Given the description of an element on the screen output the (x, y) to click on. 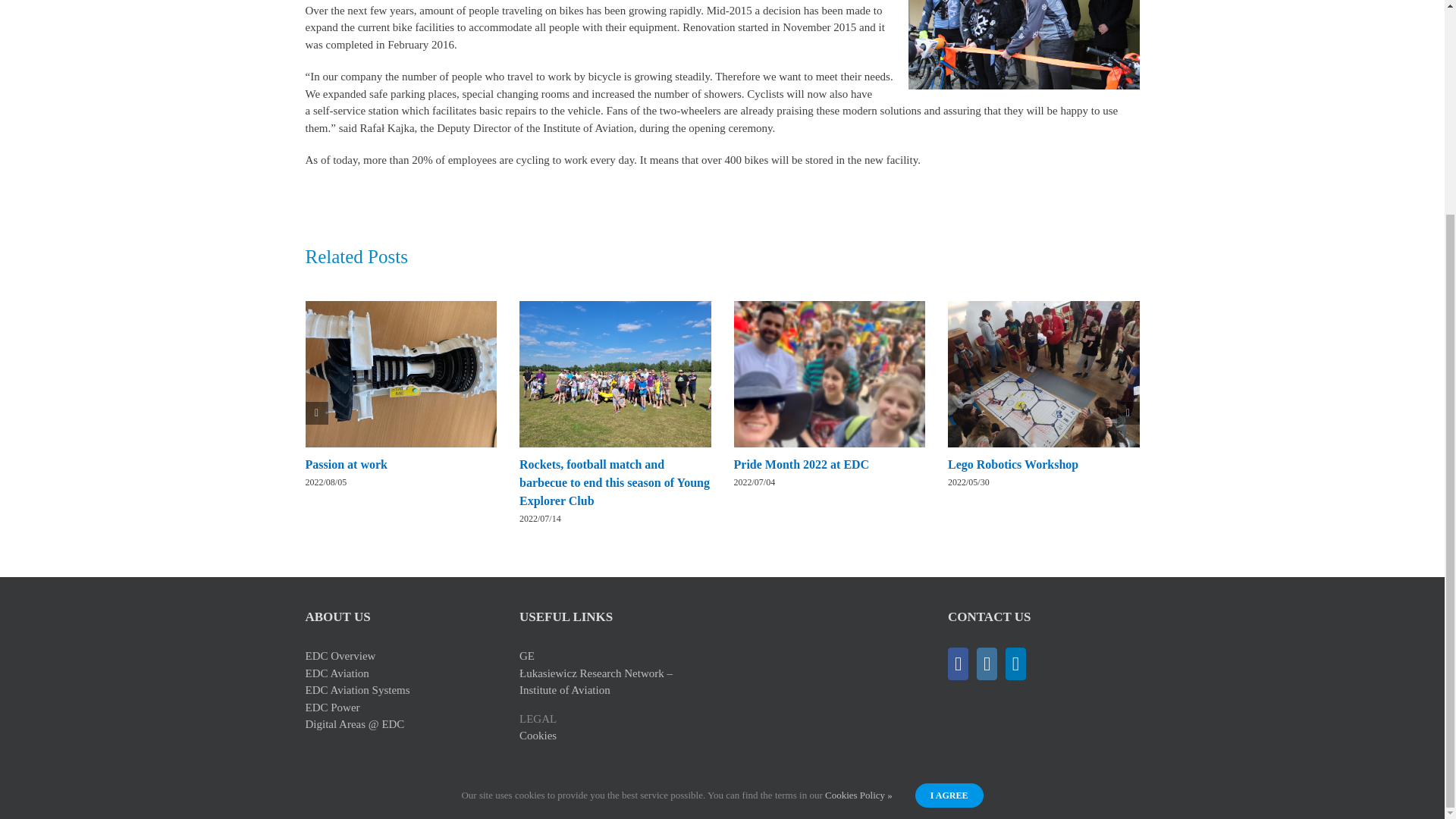
Pride Month 2022 at EDC (801, 463)
Lego Robotics Workshop (1012, 463)
Passion at work (345, 463)
